Given the description of an element on the screen output the (x, y) to click on. 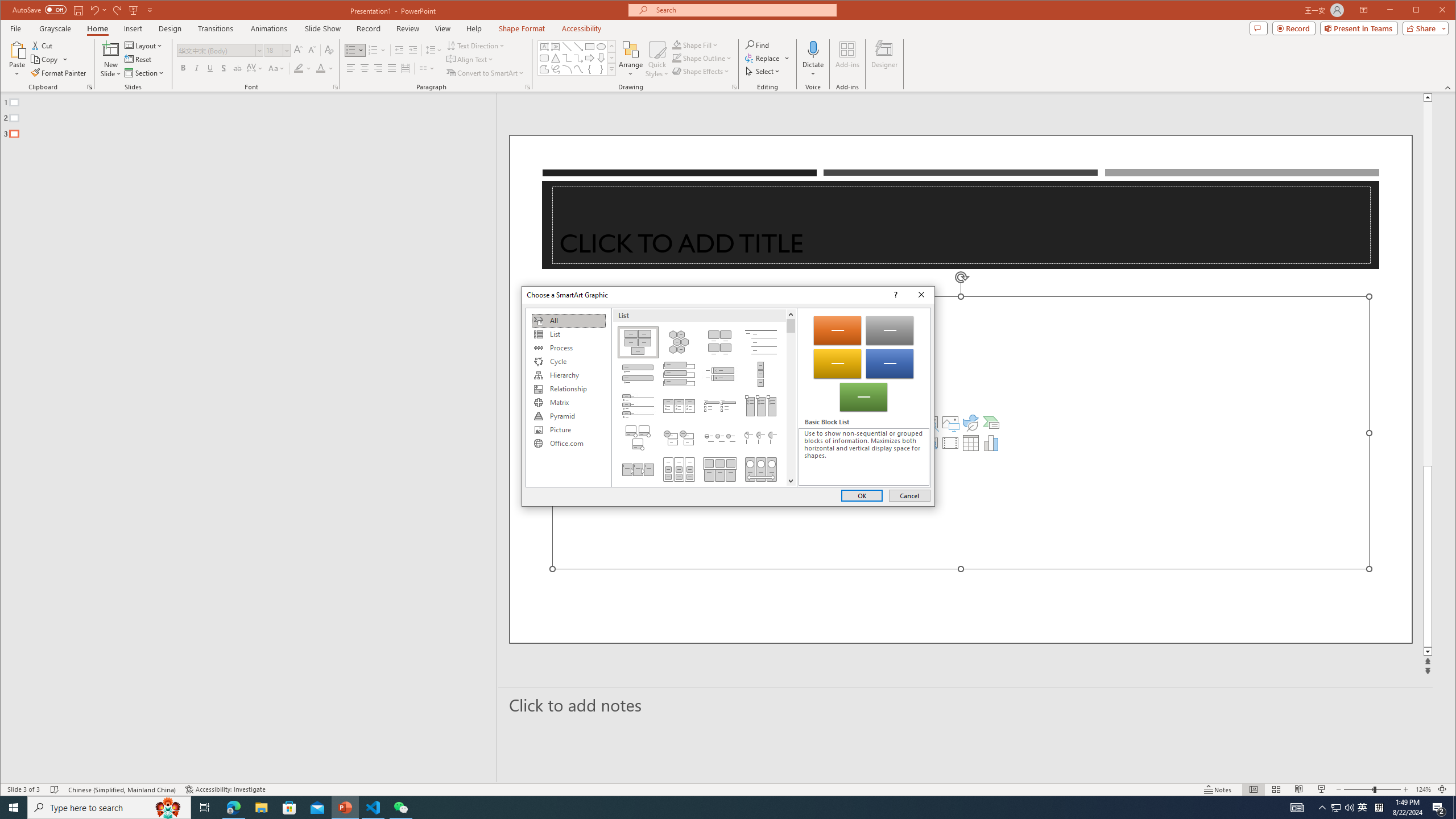
Arrange (631, 59)
Task View (204, 807)
Center (364, 68)
Type here to search (108, 807)
Font Color Red (320, 68)
Insert Video (949, 443)
Pyramid (568, 416)
Decrease Indent (399, 49)
Justify (391, 68)
Change Case (276, 68)
Numbering (373, 49)
